Given the description of an element on the screen output the (x, y) to click on. 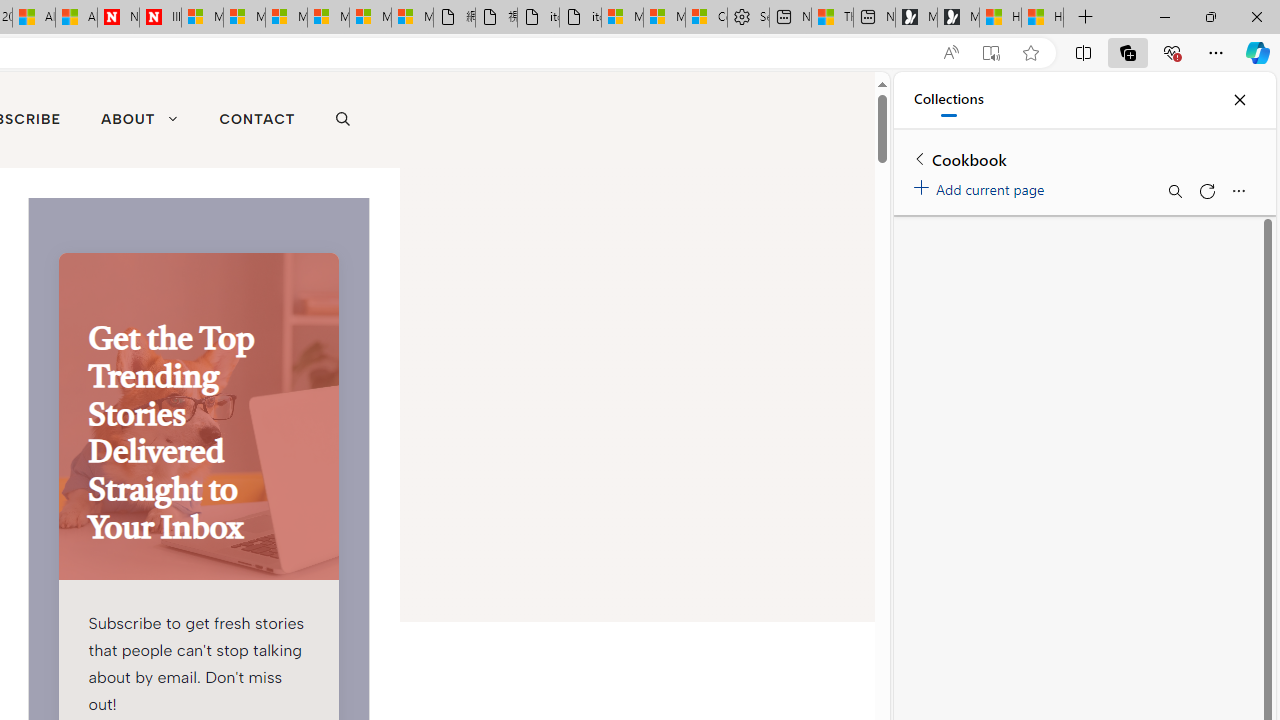
Microsoft Services Agreement (244, 17)
ABOUT (139, 119)
CONTACT (257, 119)
Back to list of collections (920, 158)
Newsweek - News, Analysis, Politics, Business, Technology (118, 17)
Add current page (982, 186)
Three Ways To Stop Sweating So Much (831, 17)
Illness news & latest pictures from Newsweek.com (159, 17)
